Given the description of an element on the screen output the (x, y) to click on. 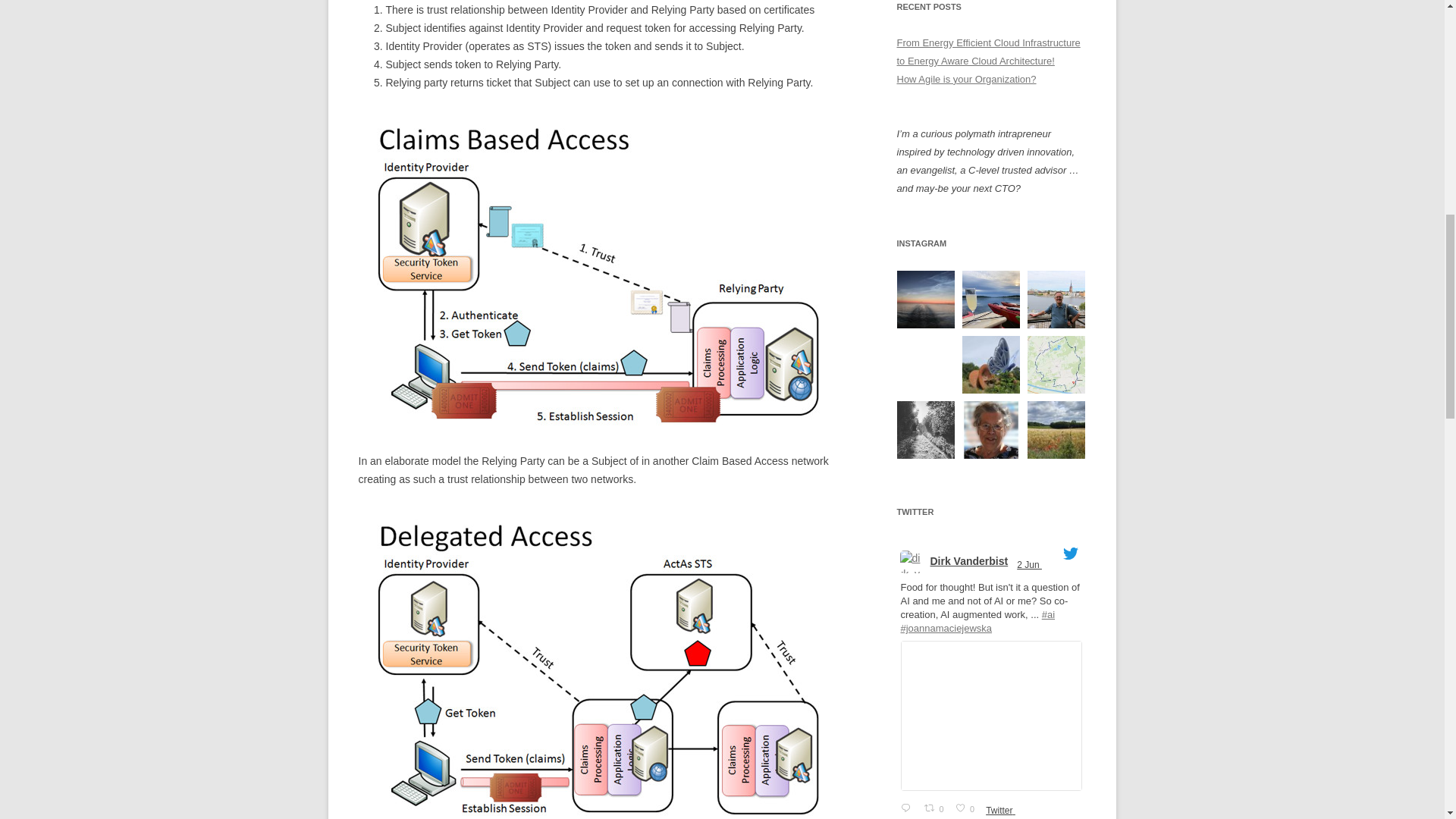
Tallin (924, 299)
Stockholm (1055, 299)
Hike 22: 20,79 Km Lommel - Leopoldsburg (989, 364)
Hike 20: 21,90 KM Zaventem ... at God speed (924, 429)
Hike 19: 20,21 KM Sint-Truiden ... at God speed (1055, 429)
Stockholm Part 2 (989, 299)
Hike 21: 19,5 Km Grobbendonk (1055, 364)
How Agile is your Organization? (965, 79)
